Given the description of an element on the screen output the (x, y) to click on. 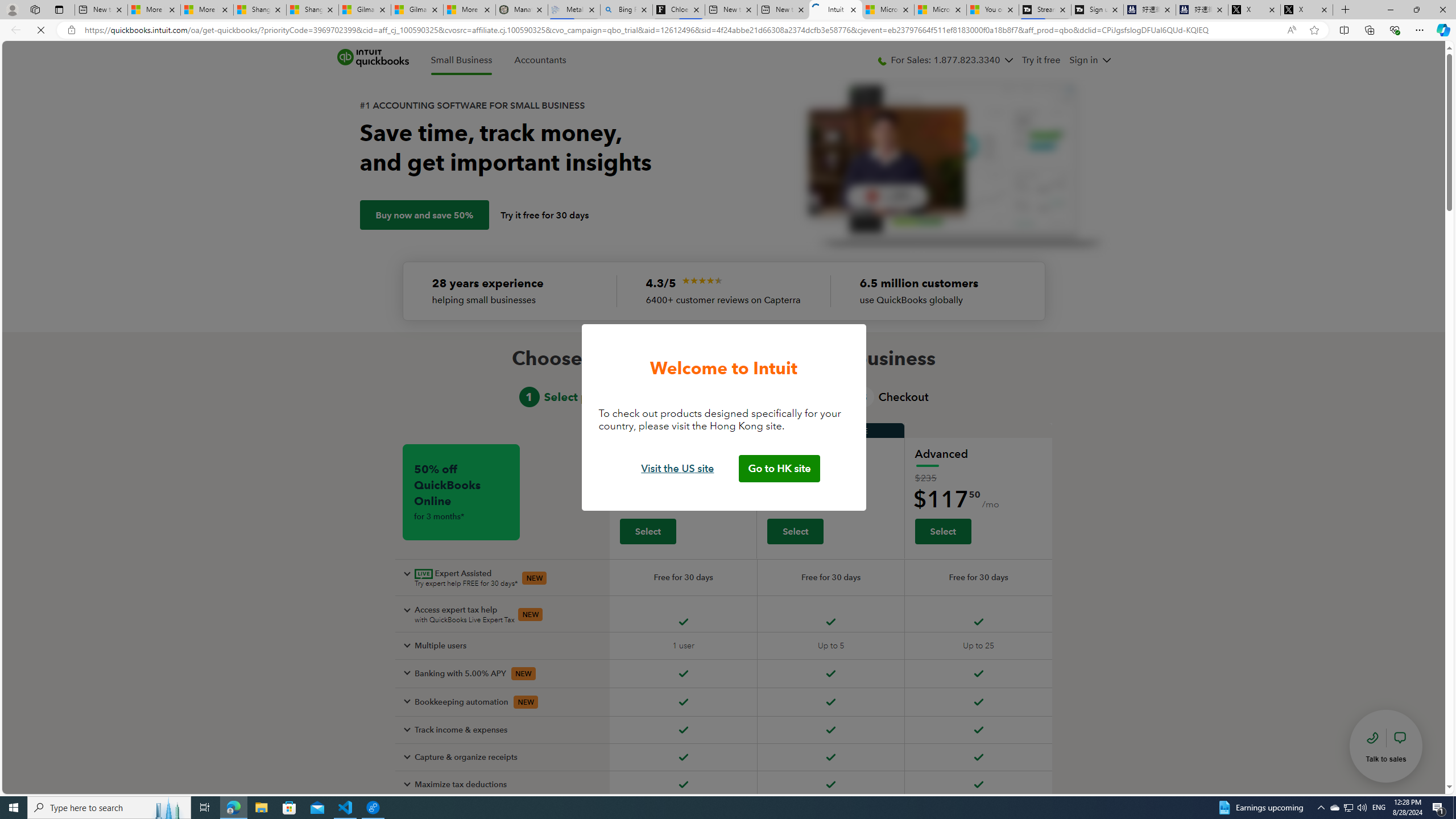
Manatee Mortality Statistics | FWC (521, 9)
Accountants (539, 60)
Try it free for 30 days (544, 214)
Select simple start (646, 531)
Select advanced (942, 531)
Select plus (795, 531)
